Given the description of an element on the screen output the (x, y) to click on. 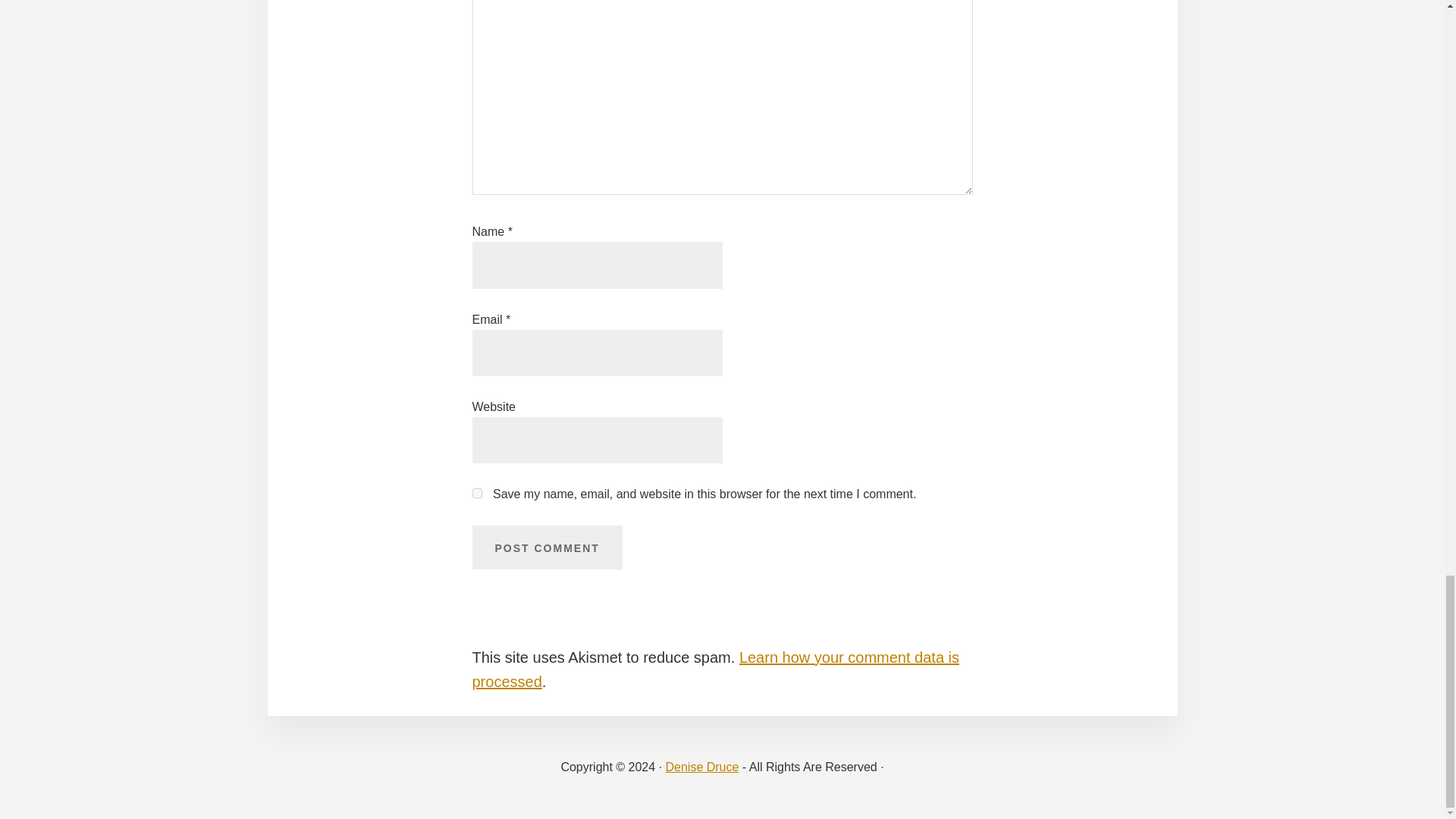
Post Comment (546, 547)
yes (476, 492)
Denise Druce (701, 766)
Post Comment (546, 547)
Learn how your comment data is processed (715, 670)
